Given the description of an element on the screen output the (x, y) to click on. 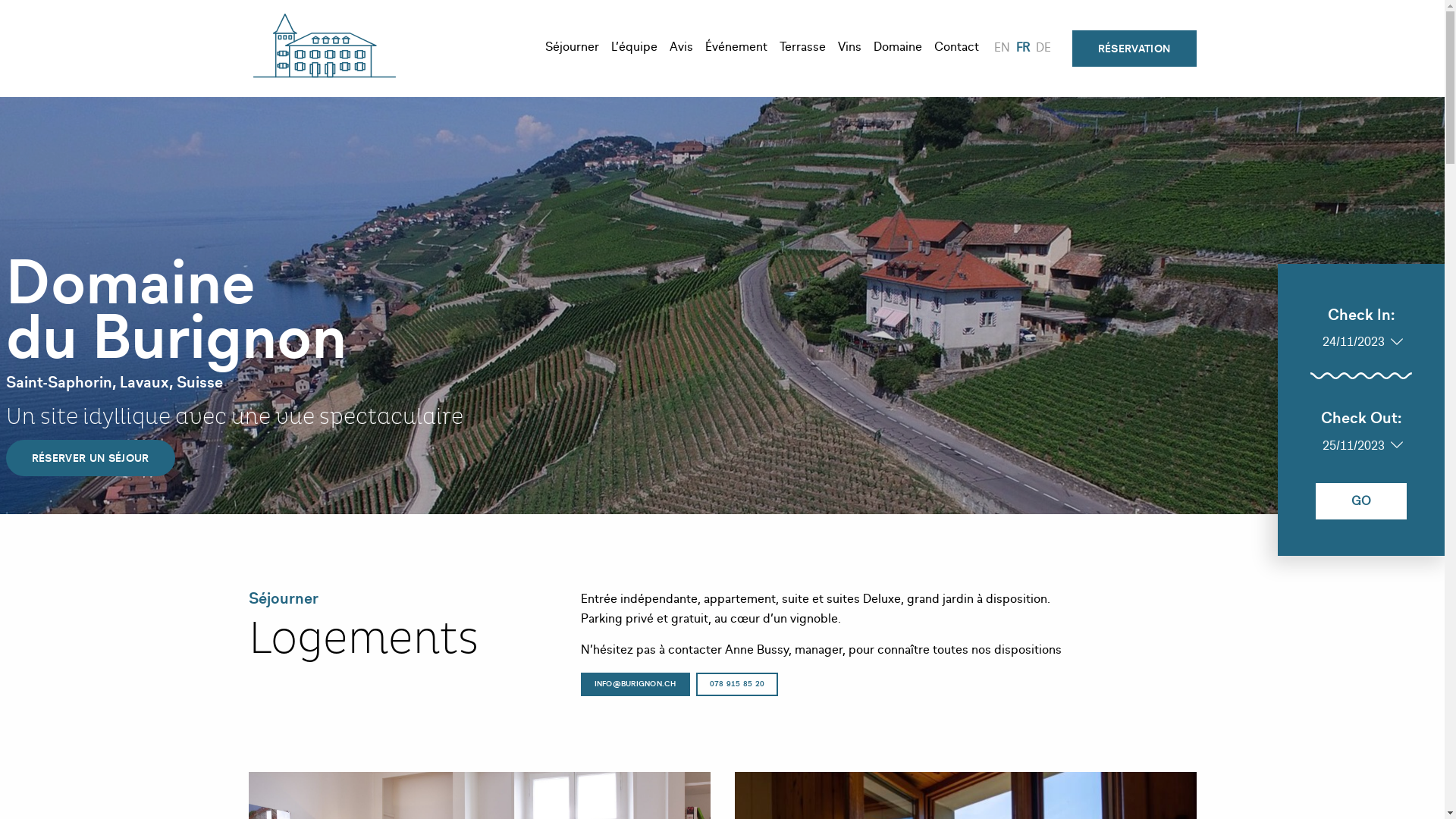
FR Element type: text (1022, 48)
Contact Element type: text (956, 48)
Domaine Element type: text (897, 48)
GO Element type: text (1360, 501)
EN Element type: text (1002, 48)
Terrasse Element type: text (802, 48)
078 915 85 20 Element type: text (737, 684)
Vins Element type: text (849, 48)
INFO@BURIGNON.CH Element type: text (635, 684)
Avis Element type: text (681, 48)
DE Element type: text (1043, 48)
